Given the description of an element on the screen output the (x, y) to click on. 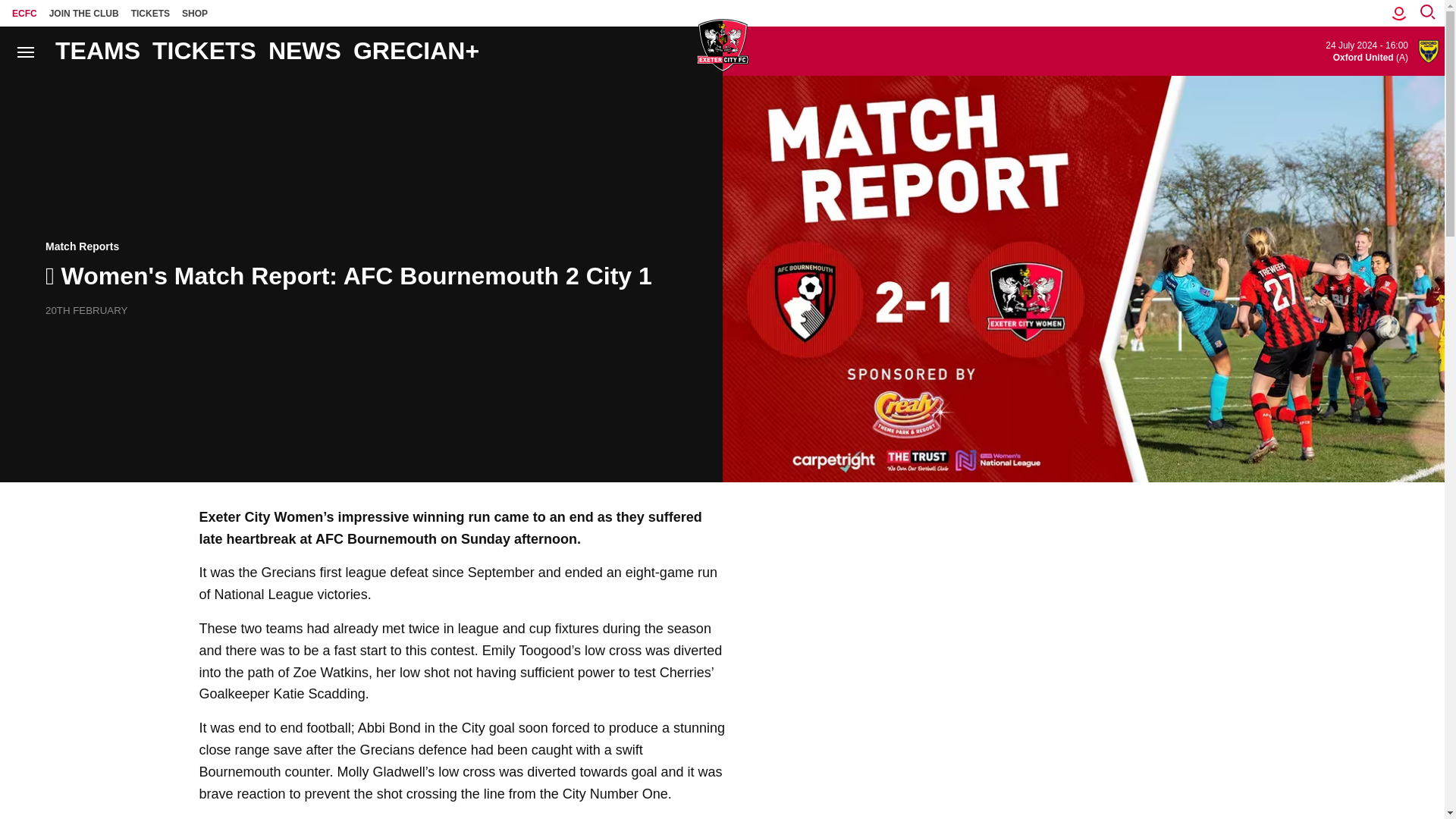
ECFC (24, 13)
JOIN THE CLUB (84, 13)
SHOP (195, 13)
TICKETS (150, 13)
